Given the description of an element on the screen output the (x, y) to click on. 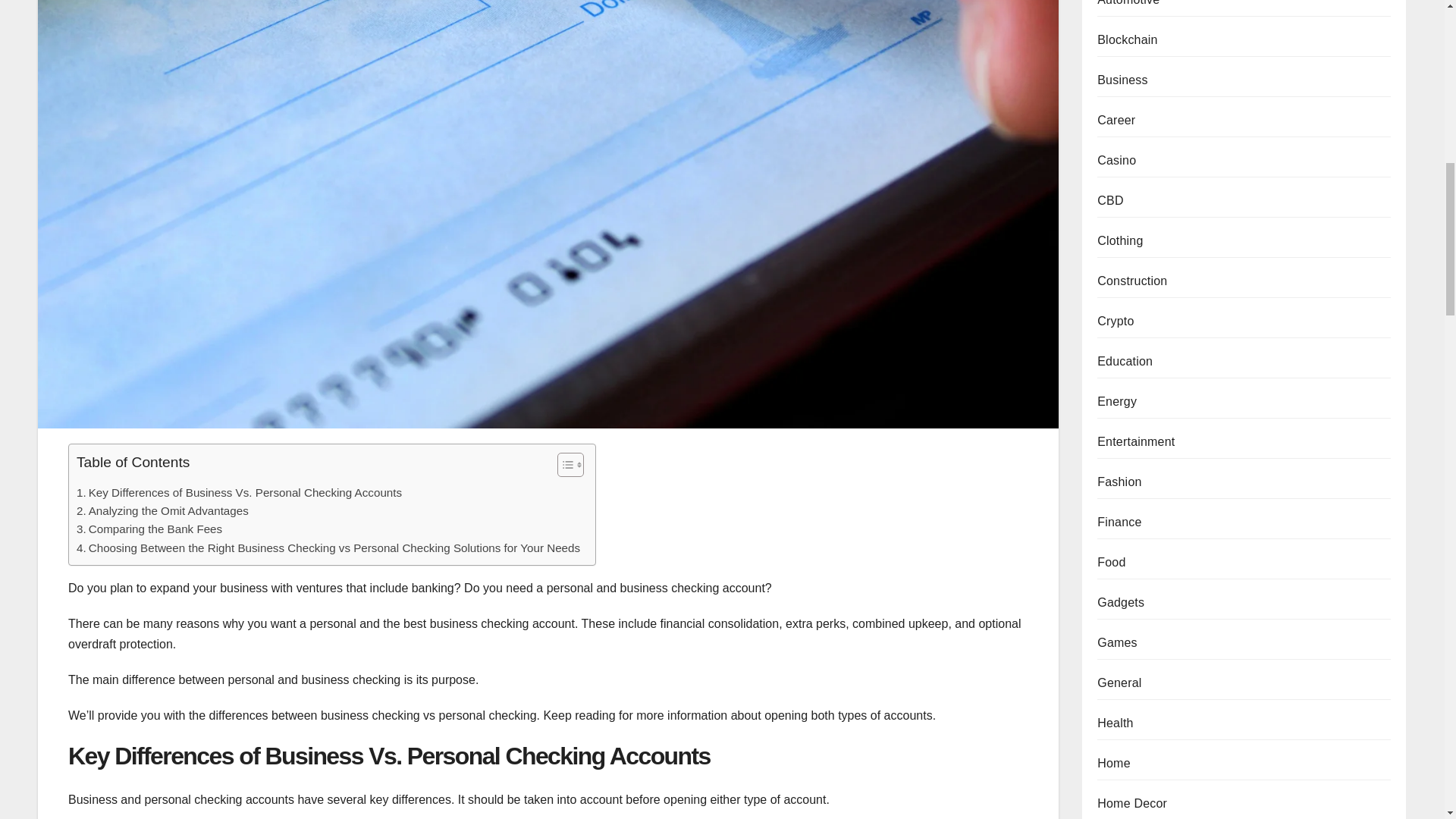
Key Differences of Business Vs. Personal Checking Accounts (239, 493)
Analyzing the Omit Advantages (162, 511)
Comparing the Bank Fees (149, 529)
Key Differences of Business Vs. Personal Checking Accounts (239, 493)
Analyzing the Omit Advantages (162, 511)
Comparing the Bank Fees (149, 529)
